Given the description of an element on the screen output the (x, y) to click on. 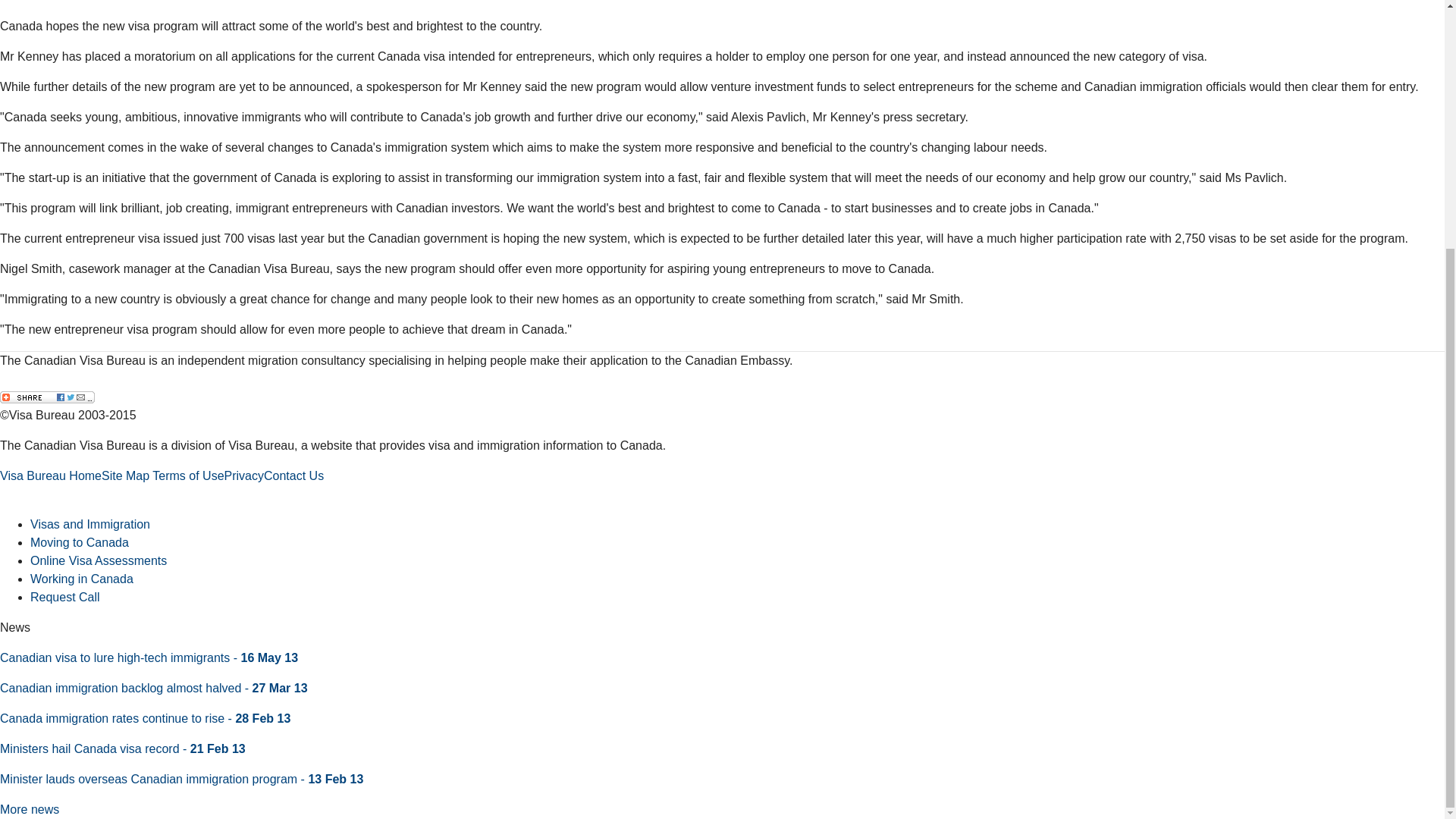
Canada immigration rates continue to rise - 28 Feb 13 (144, 717)
Visas and Immigration (89, 523)
Contact Us (293, 475)
Ministers hail Canada visa record - 21 Feb 13 (123, 748)
Site Map (125, 475)
Request Call (65, 596)
Moving to Canada (79, 542)
Working in Canada (81, 578)
Canadian visa to lure high-tech immigrants - 16 May 13 (149, 657)
Canadian immigration backlog almost halved - 27 Mar 13 (153, 687)
Visa Bureau Home (50, 475)
Online Visa Assessments (98, 560)
Terms of Use (188, 475)
Privacy (243, 475)
